Given the description of an element on the screen output the (x, y) to click on. 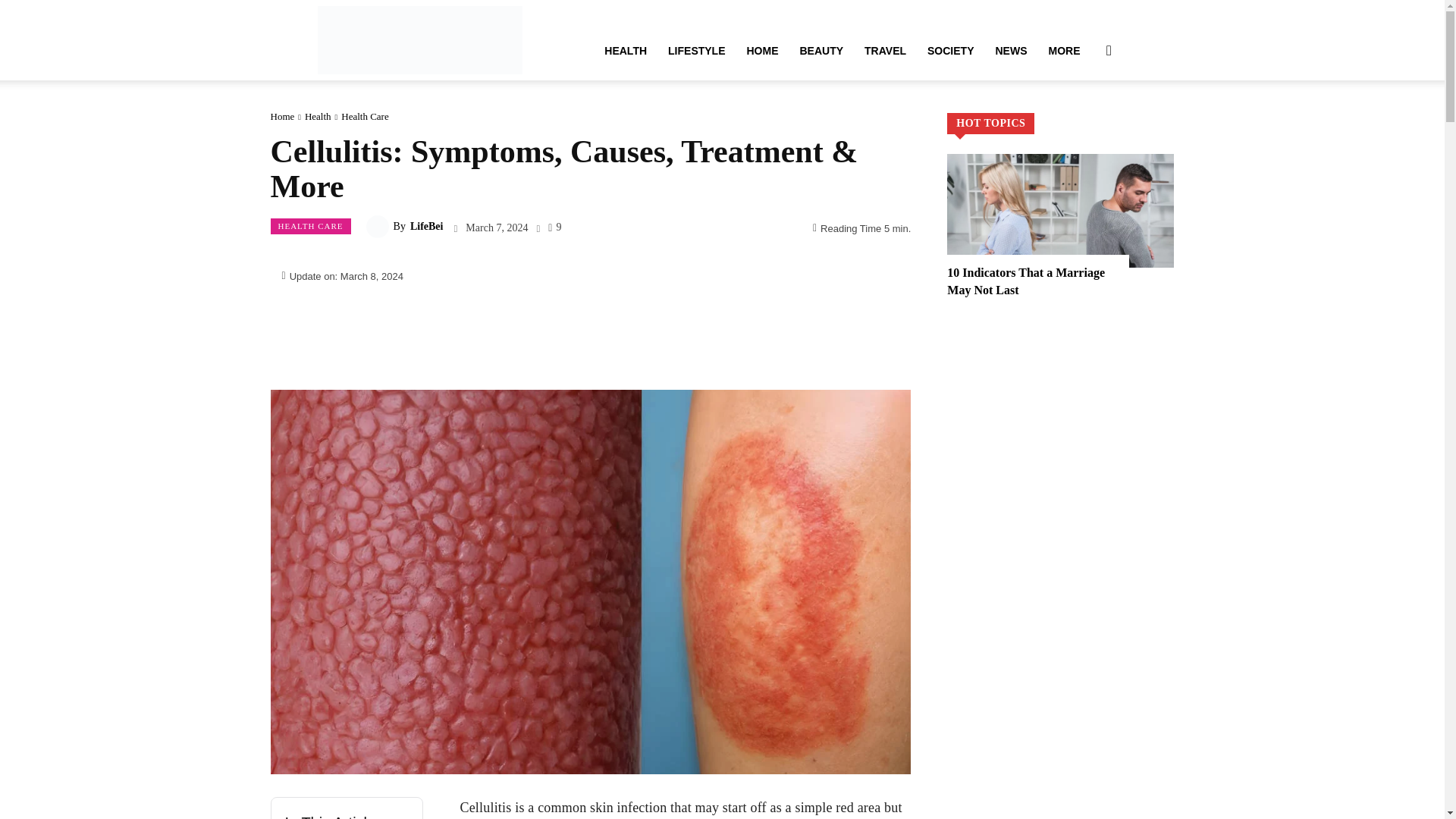
HOME (762, 50)
10 Indicators That a Marriage May Not Last (1060, 210)
HEALTH (626, 50)
LifeBei (419, 39)
Search (1085, 122)
View all posts in Health (317, 116)
LIFESTYLE (696, 50)
View all posts in Health Care (364, 116)
10 Indicators That a Marriage May Not Last (1026, 280)
LifeBei Best Lifestyle Tips (419, 39)
